Given the description of an element on the screen output the (x, y) to click on. 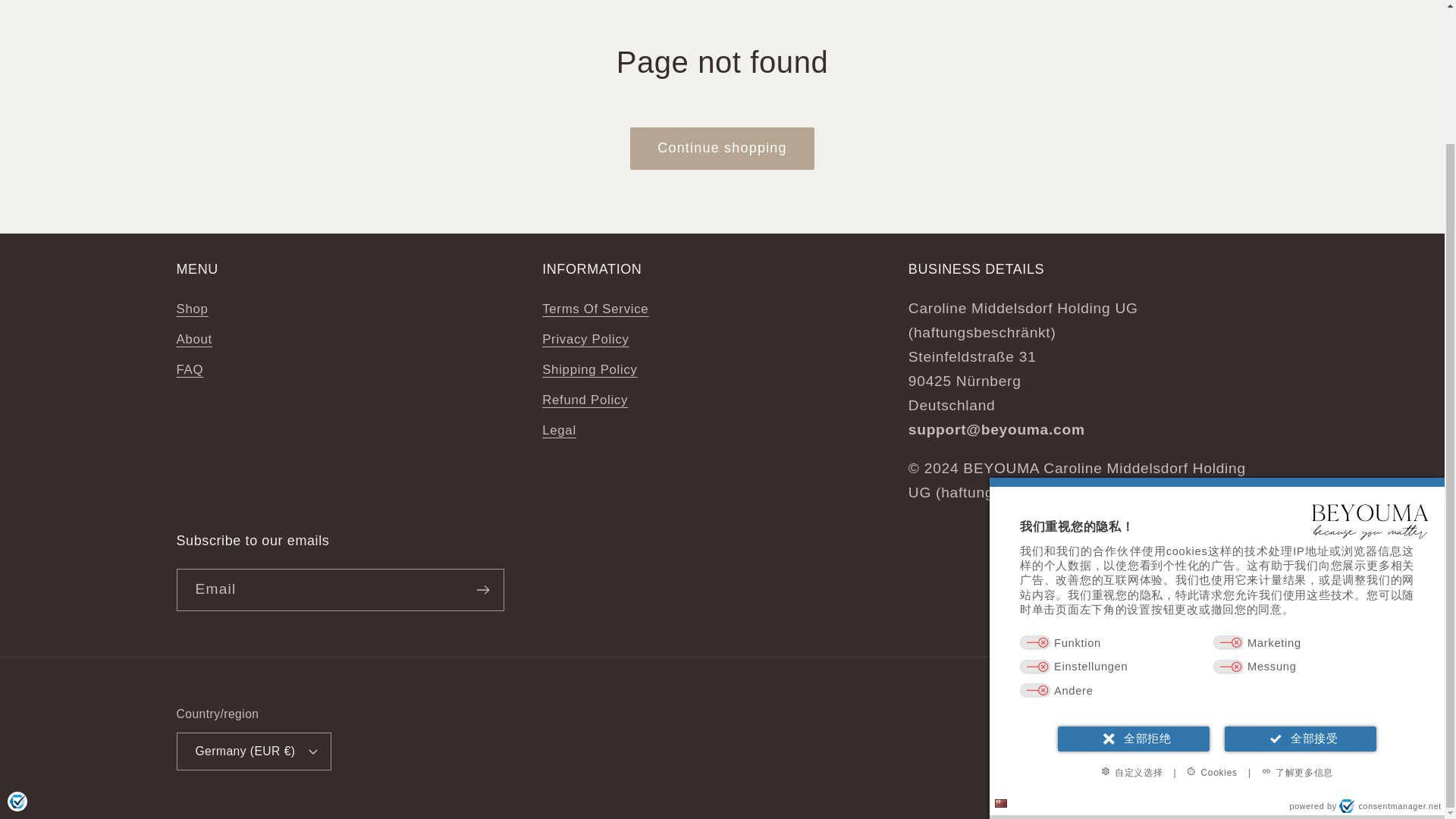
Cookies (1211, 607)
Language: zh (1000, 639)
Language: zh (1000, 639)
consentmanager.net (1390, 642)
